Given the description of an element on the screen output the (x, y) to click on. 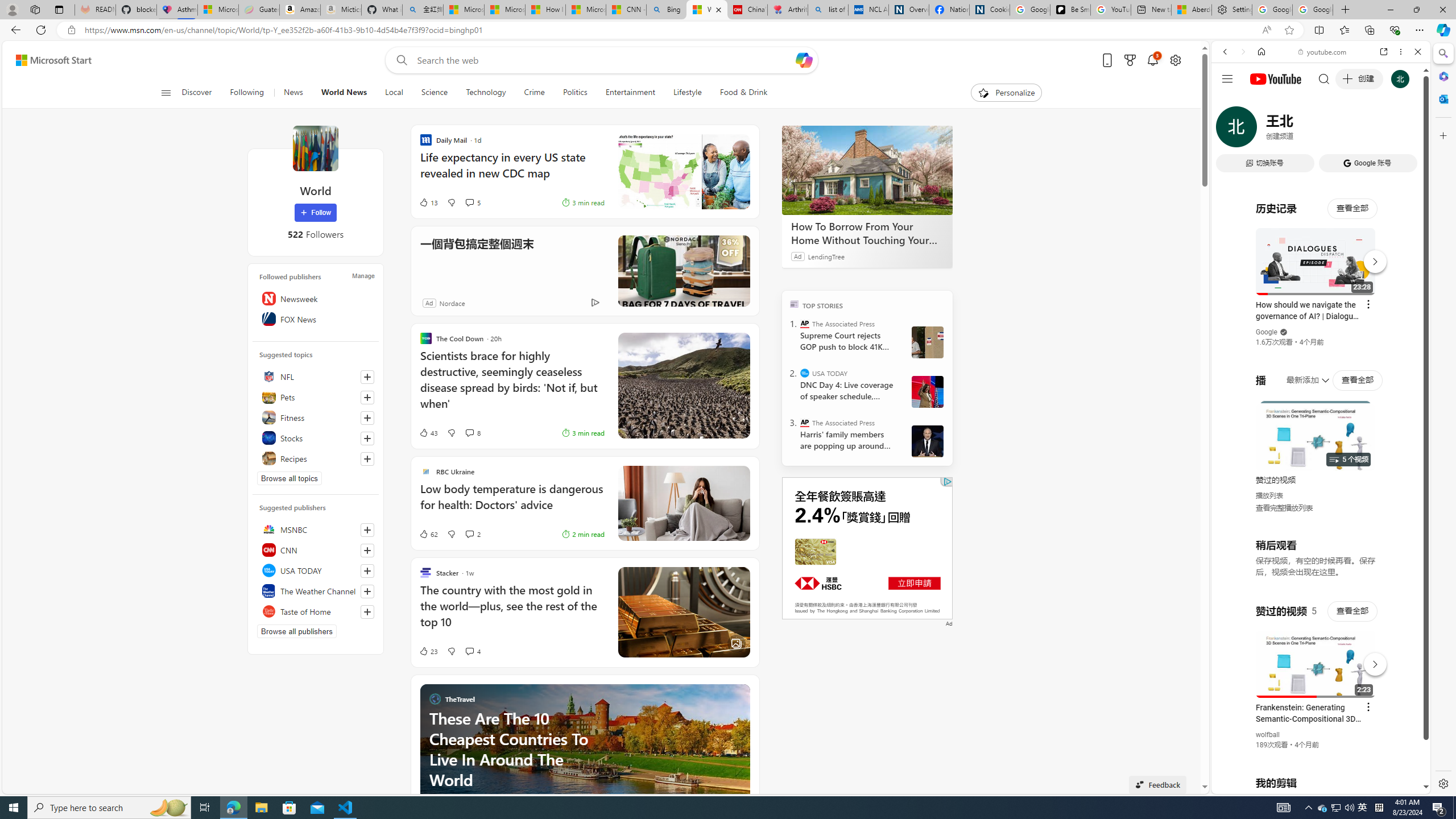
Life expectancy in every US state revealed in new CDC map (511, 171)
Search Filter, VIDEOS (1300, 129)
Follow this source (367, 612)
Skip to content (49, 59)
#you (1320, 253)
Bing (666, 9)
Open settings (1175, 60)
Preferences (1403, 129)
